Given the description of an element on the screen output the (x, y) to click on. 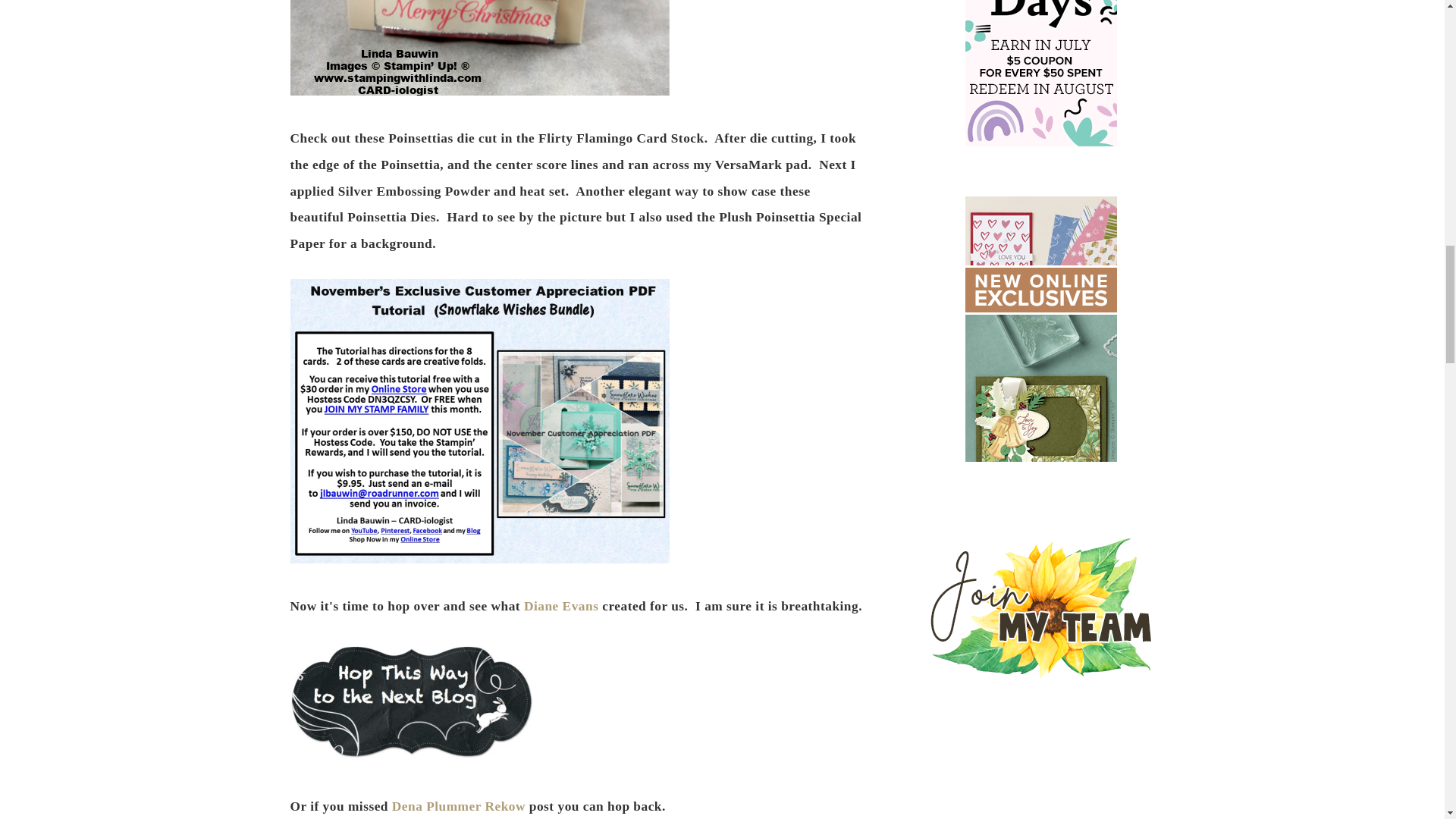
Dena Plummer Rekow (458, 806)
Diane Evans (561, 605)
